Given the description of an element on the screen output the (x, y) to click on. 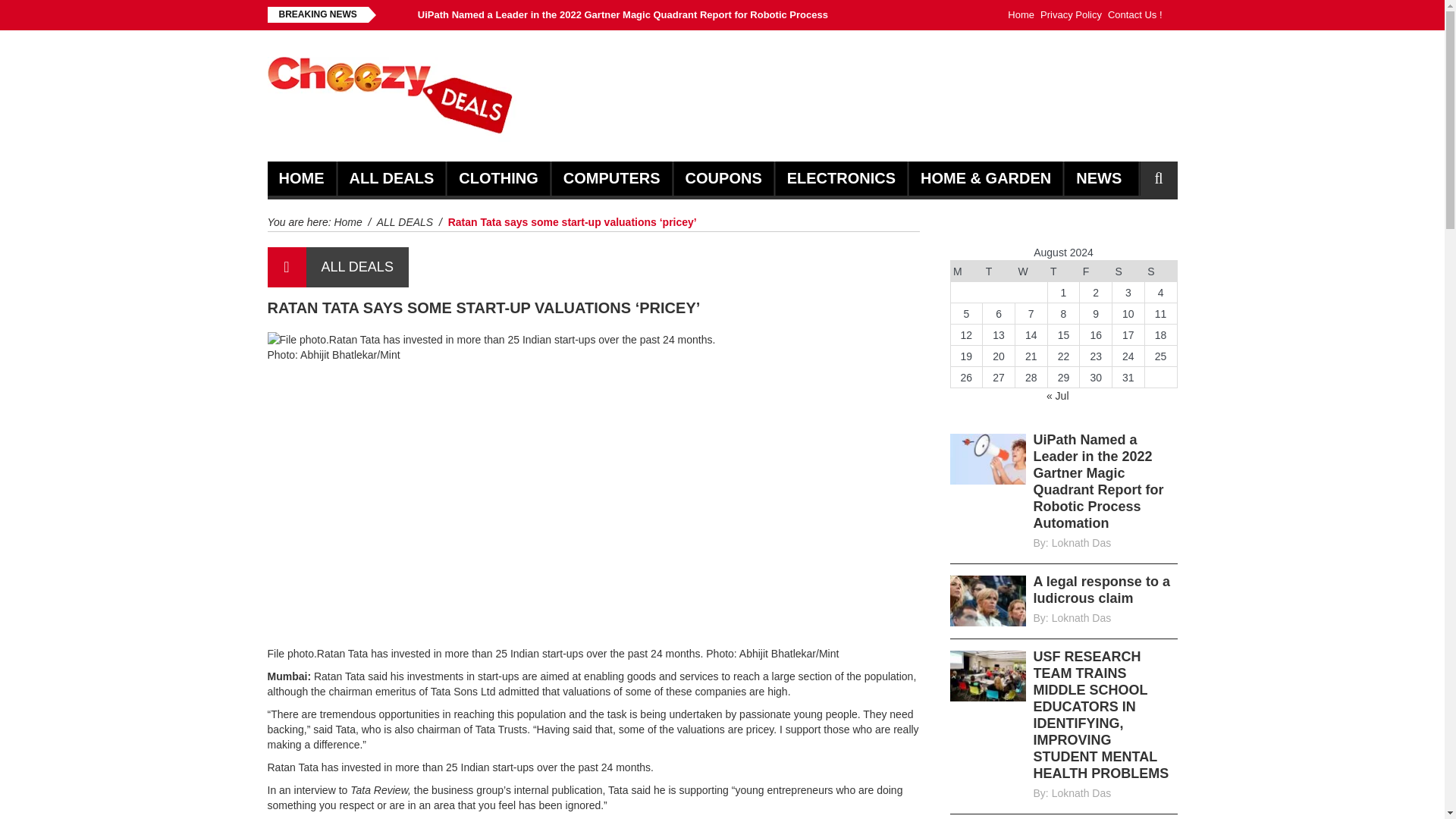
ALL DEALS (357, 267)
Saturday (1128, 271)
Sunday (1160, 271)
NEWS (1098, 178)
Posts by Loknath Das (1081, 793)
Friday (1096, 271)
Contact Us ! (1134, 15)
Wednesday (1030, 271)
Tuesday (998, 271)
ELECTRONICS (841, 178)
Home (347, 222)
Privacy Policy (1071, 15)
Posts by Loknath Das (1081, 542)
ALL DEALS (391, 178)
